Given the description of an element on the screen output the (x, y) to click on. 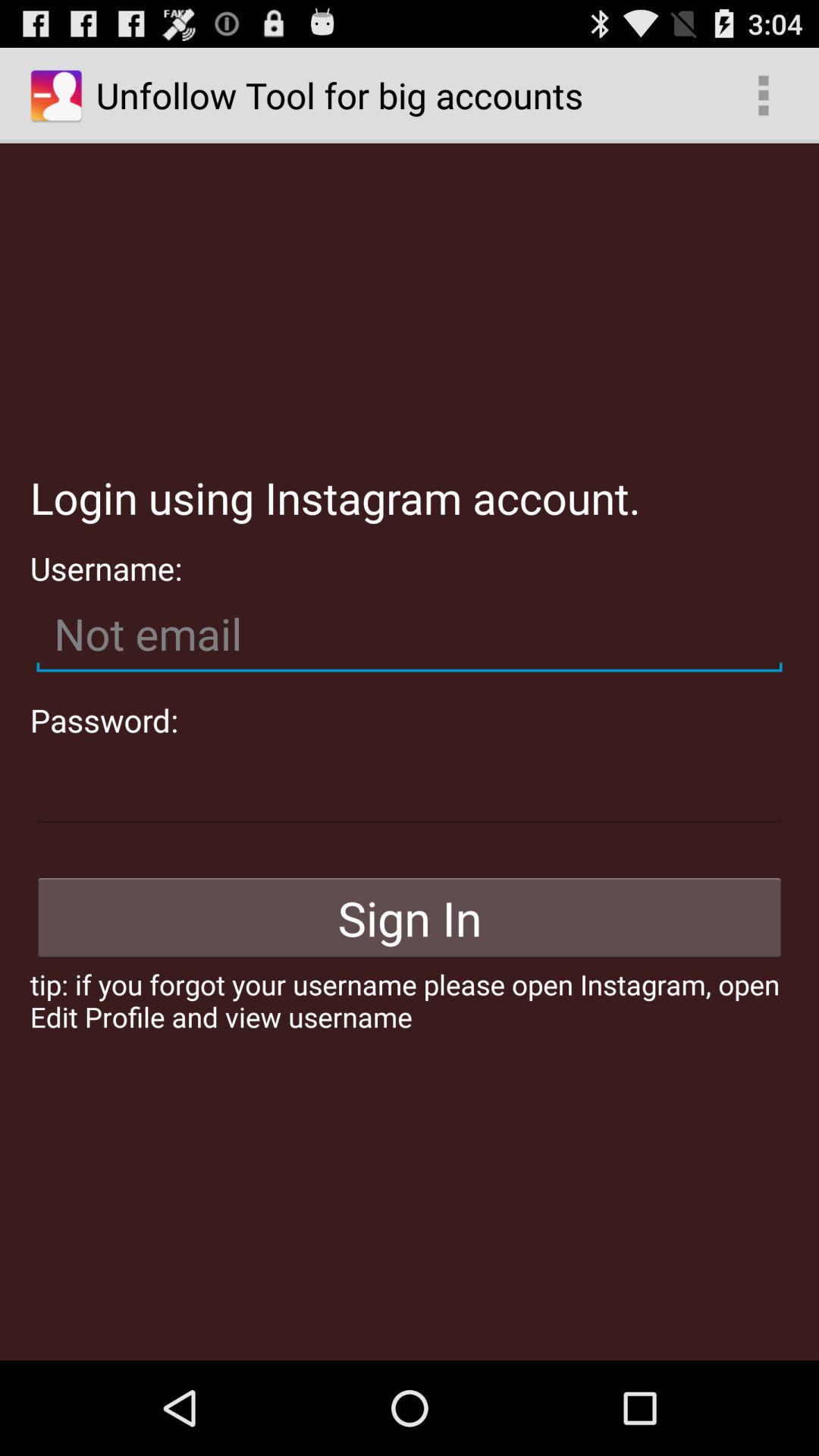
open the icon at the top right corner (763, 95)
